Given the description of an element on the screen output the (x, y) to click on. 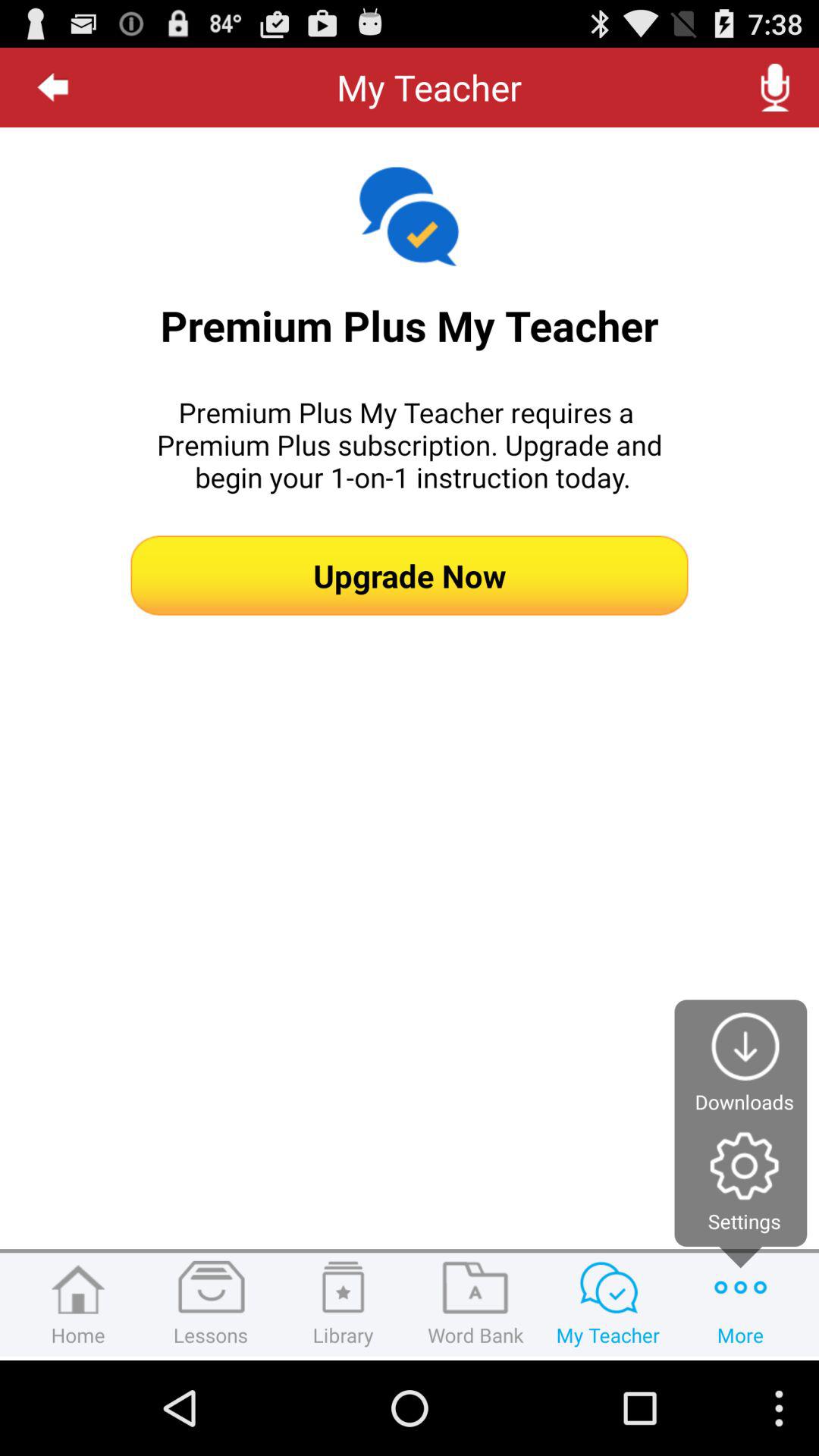
launch item next to the my teacher (775, 87)
